Given the description of an element on the screen output the (x, y) to click on. 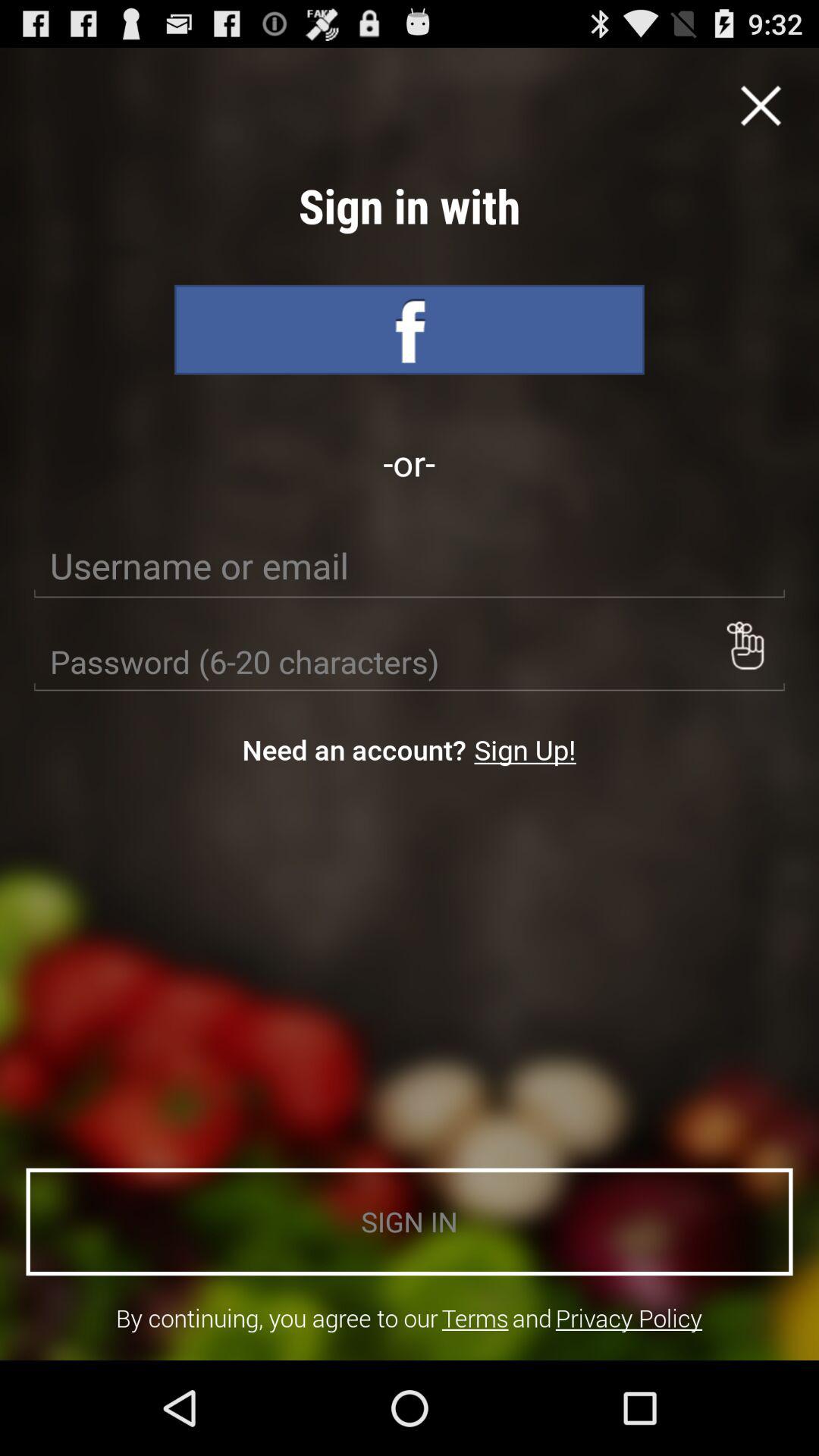
sign into facebook (409, 329)
